Given the description of an element on the screen output the (x, y) to click on. 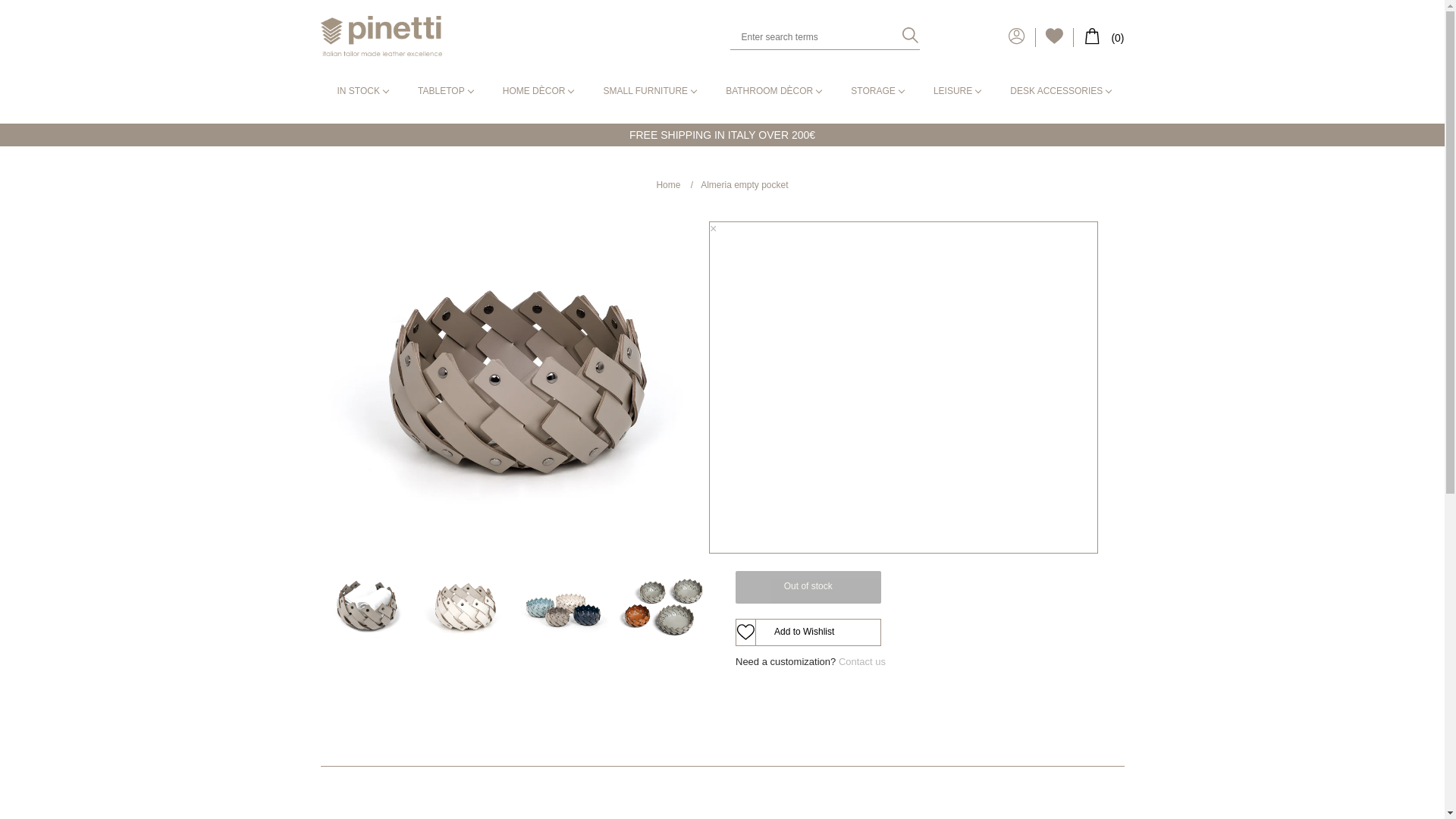
1 (850, 512)
TABLETOP (442, 91)
STORAGE (874, 91)
IN STOCK (360, 91)
SMALL FURNITURE (647, 91)
LEISURE (954, 91)
